Given the description of an element on the screen output the (x, y) to click on. 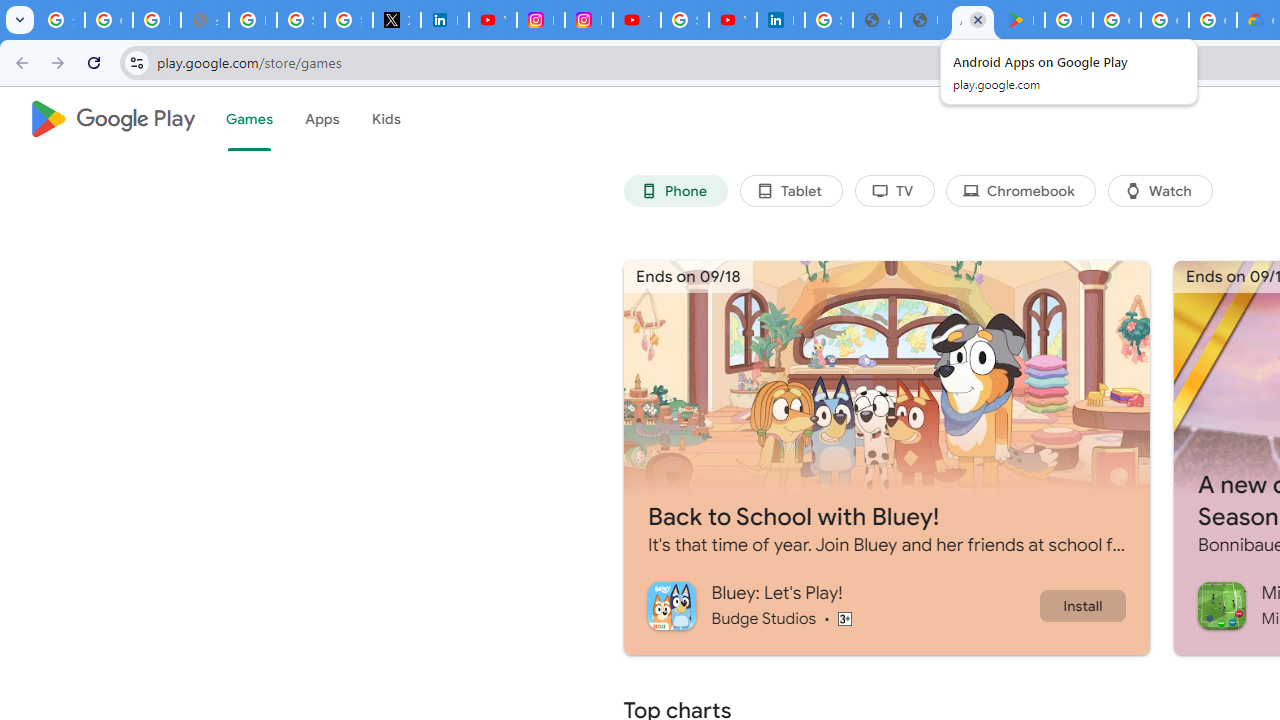
Identity verification via Persona | LinkedIn Help (780, 20)
support.google.com - Network error (204, 20)
Chromebook (1020, 190)
X (396, 20)
LinkedIn Privacy Policy (444, 20)
Privacy Help Center - Policies Help (252, 20)
TV (893, 190)
Sign in - Google Accounts (684, 20)
